Given the description of an element on the screen output the (x, y) to click on. 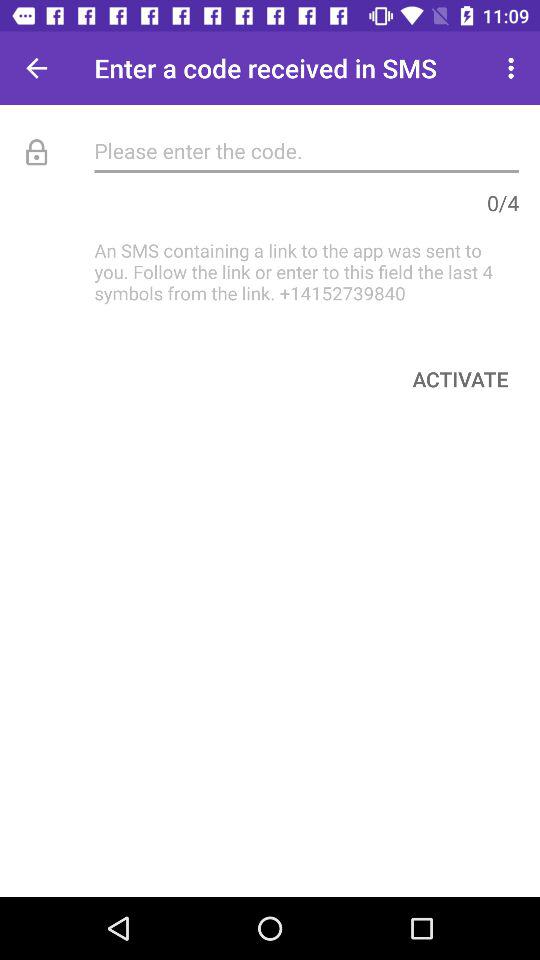
go back (36, 68)
